Given the description of an element on the screen output the (x, y) to click on. 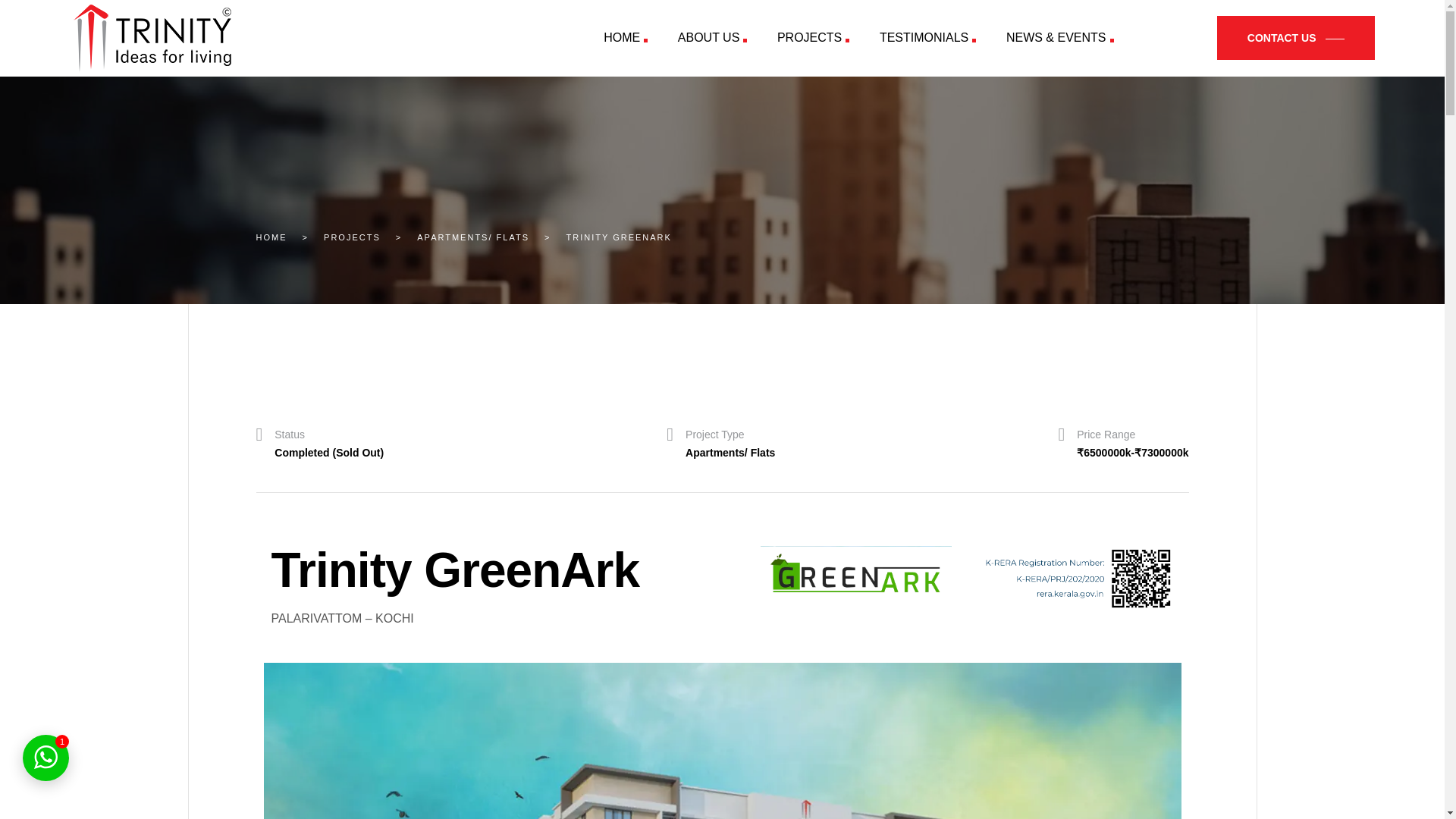
CONTACT US (1295, 37)
Go to Projects. (351, 236)
PROJECTS (351, 236)
PROJECTS (812, 38)
HOME (271, 236)
ABOUT US (711, 38)
TESTIMONIALS (928, 38)
Go to Home. (271, 236)
HOME (626, 38)
